Given the description of an element on the screen output the (x, y) to click on. 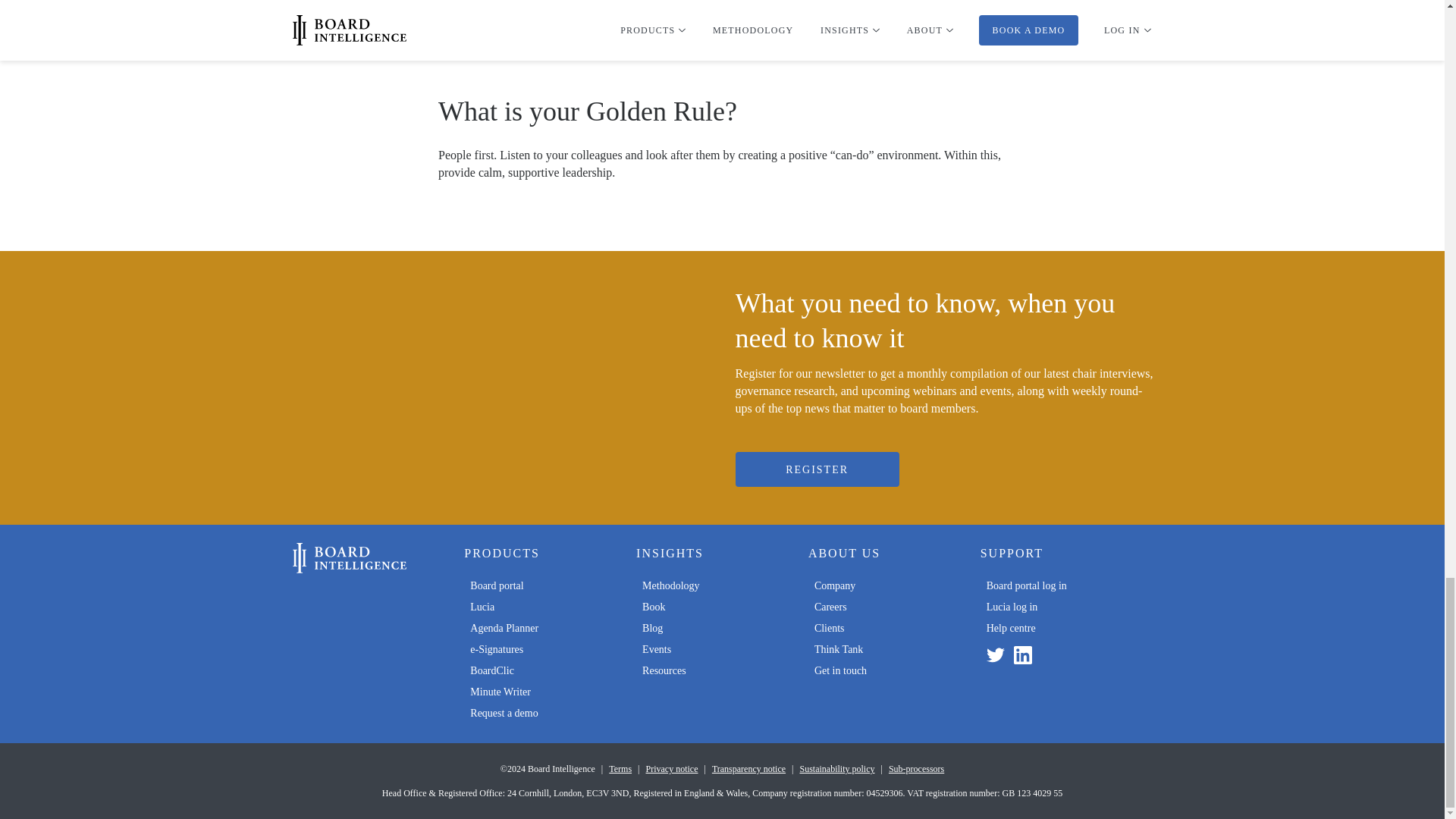
Register (817, 469)
